Given the description of an element on the screen output the (x, y) to click on. 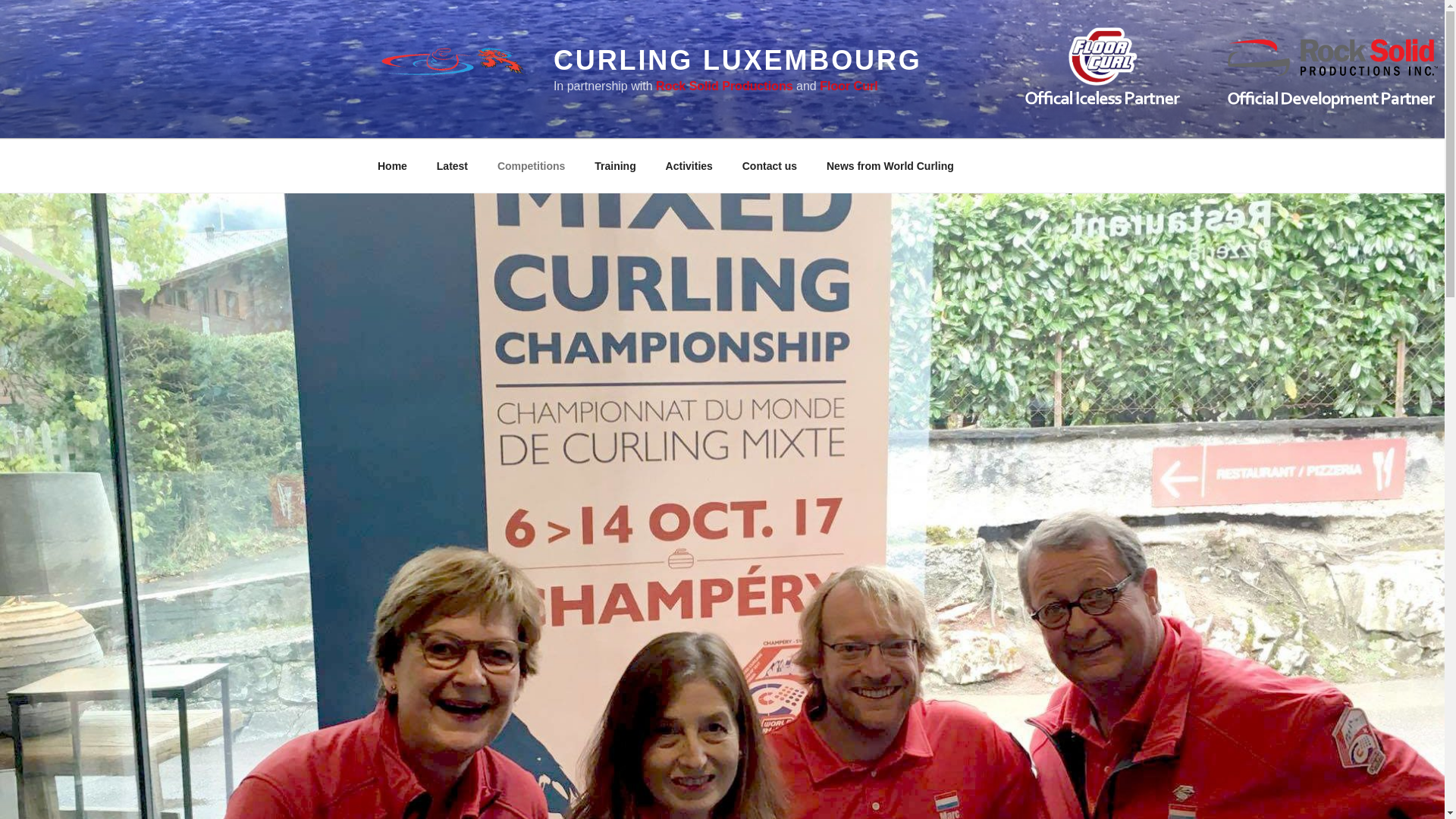
Contact us (769, 165)
Latest (451, 165)
Rock Solid Productions (724, 85)
Training (614, 165)
Home (392, 165)
News from World Curling (889, 165)
Activities (688, 165)
Floor Curl (848, 85)
CURLING LUXEMBOURG (737, 60)
Competitions (530, 165)
